Given the description of an element on the screen output the (x, y) to click on. 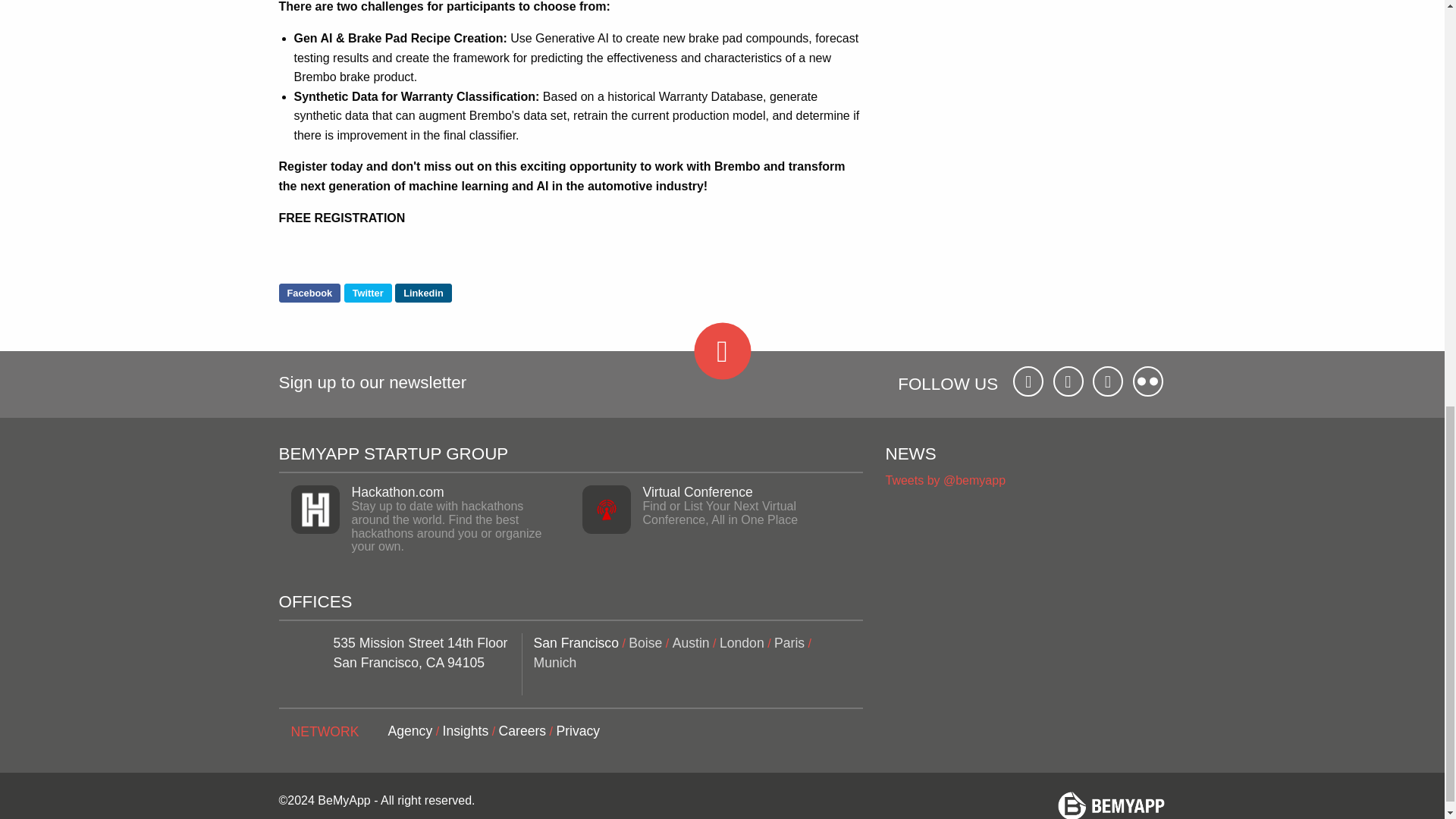
Sign up to our newsletter (373, 383)
Privacy (577, 730)
Careers (523, 730)
Paris (789, 642)
San Francisco (576, 642)
Agency (410, 730)
Twitter (367, 292)
Virtual Conference (697, 491)
Munich (555, 662)
Linkedin (422, 292)
Austin (691, 642)
Boise (645, 642)
Hackathon.com (398, 491)
Facebook (309, 292)
London (741, 642)
